Given the description of an element on the screen output the (x, y) to click on. 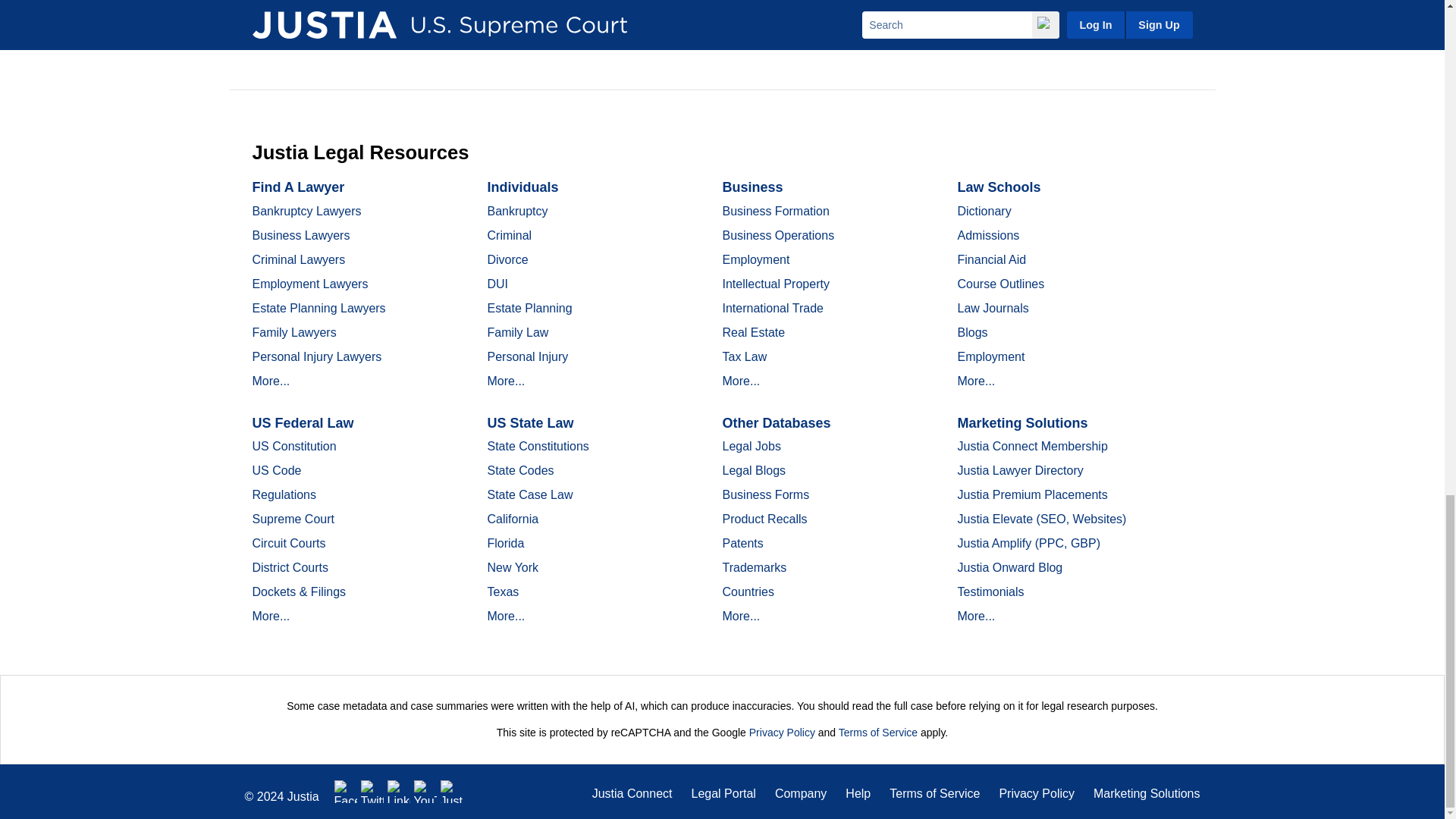
Justia Lawyer Directory (452, 791)
LinkedIn (398, 791)
Facebook (345, 791)
Twitter (372, 791)
YouTube (424, 791)
